Given the description of an element on the screen output the (x, y) to click on. 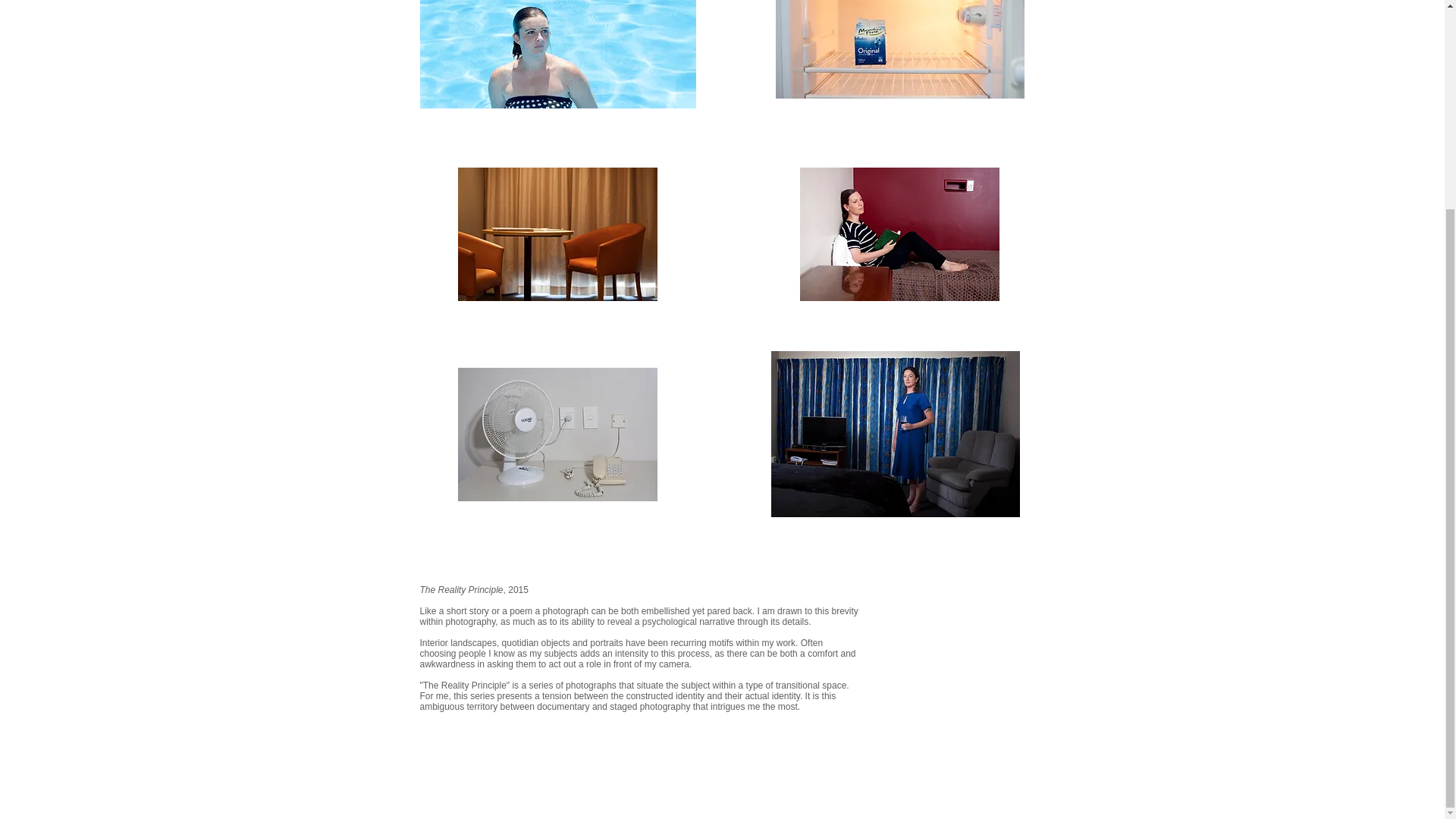
Off Broadway Motel, 2015 (558, 234)
The Reality Principle, 2015 (557, 54)
Homestead Motor Lodge, 2015 (558, 434)
Hobson Motor Inn, 2015 (898, 234)
Sun Valley Motel, 2015 (894, 433)
